Given the description of an element on the screen output the (x, y) to click on. 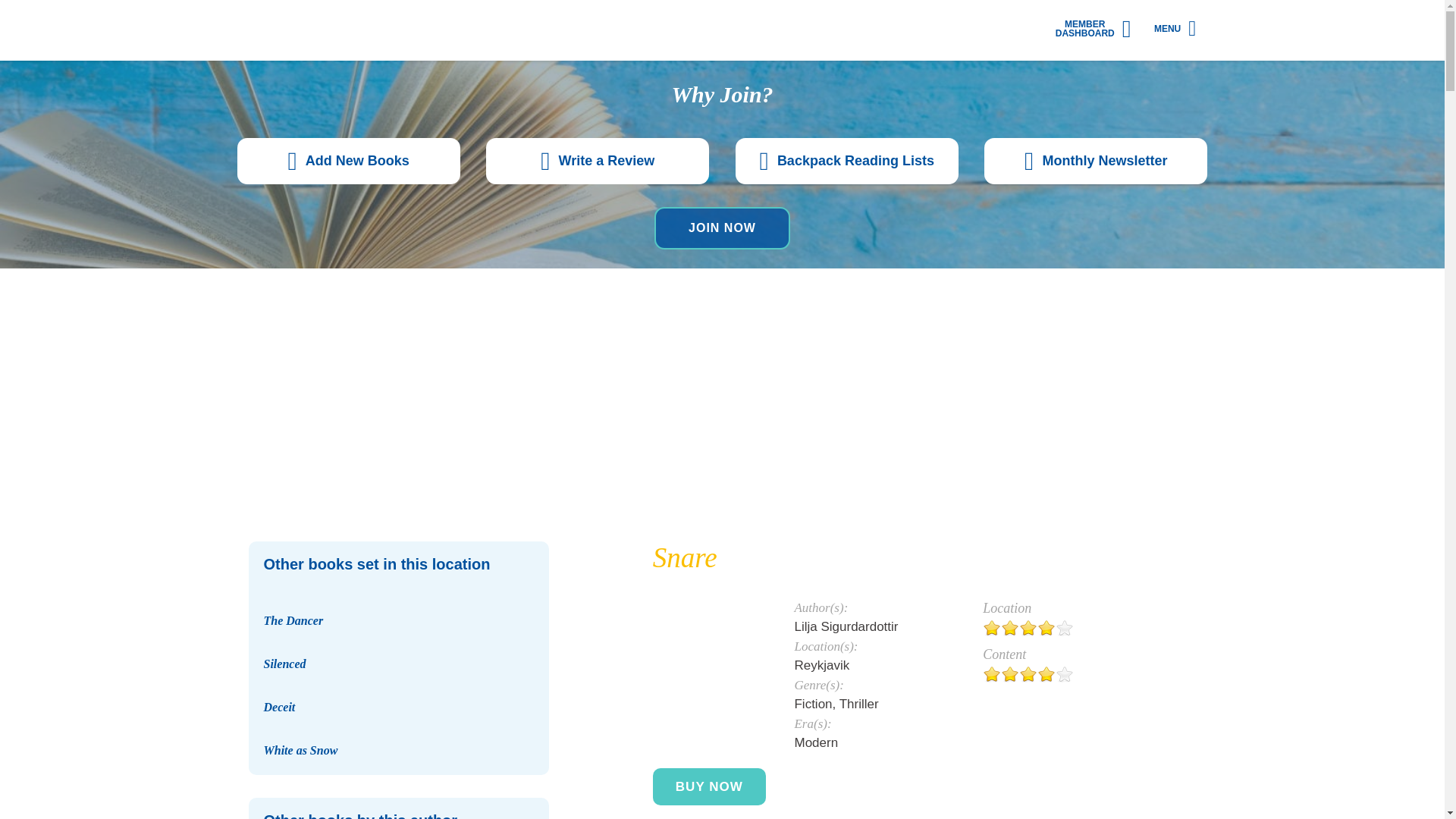
Deceit (279, 707)
The Dancer (398, 593)
Deceit (279, 707)
Silenced (398, 636)
Deceit (398, 680)
White as Snow (300, 749)
White as Snow (398, 723)
MENU (1175, 27)
The Dancer (293, 620)
BUY NOW (708, 786)
TripFiction (321, 30)
Silenced (284, 663)
JOIN NOW (721, 228)
White as Snow (300, 749)
